Given the description of an element on the screen output the (x, y) to click on. 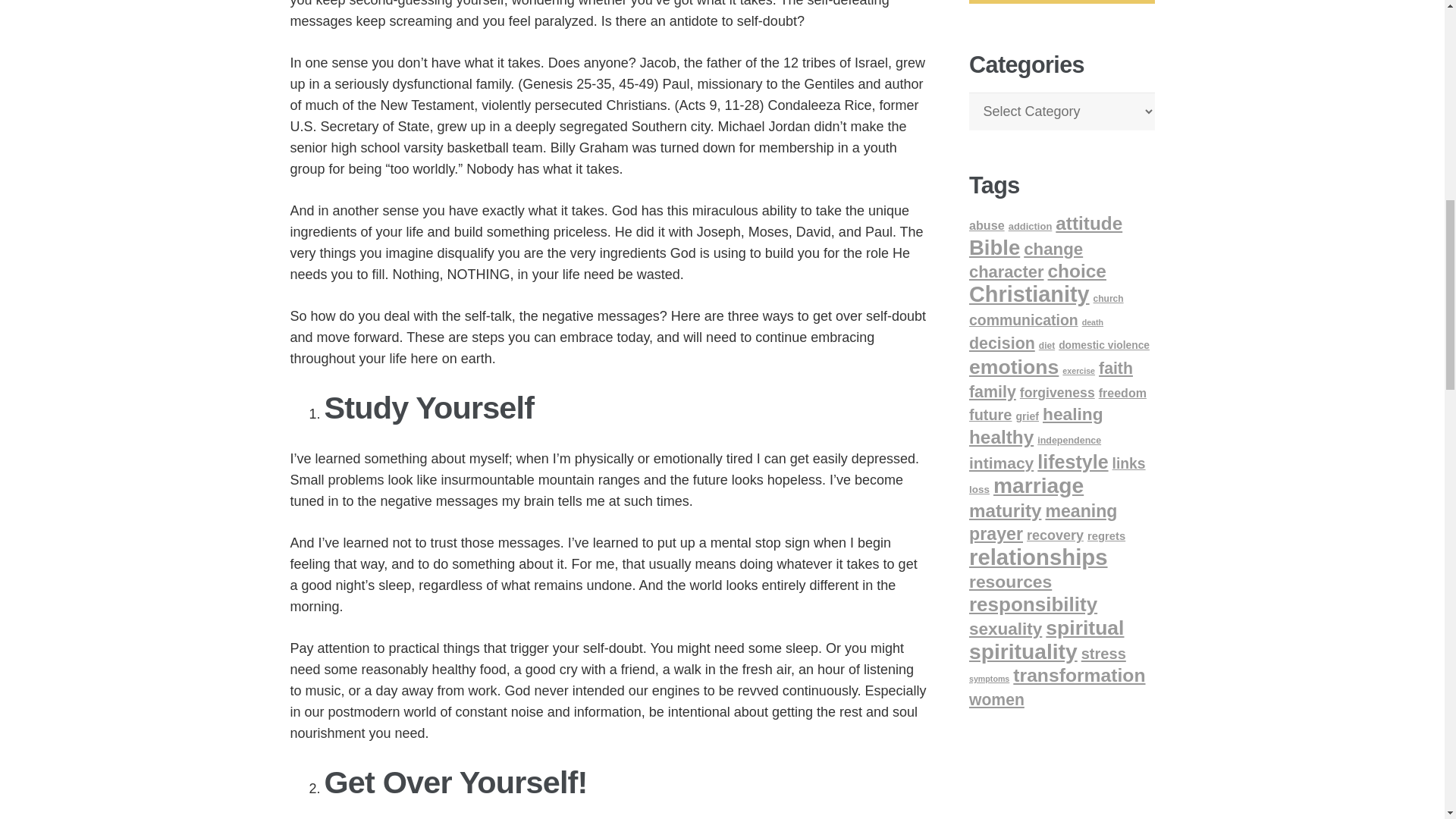
communication (1023, 320)
character (1006, 271)
Bible (994, 247)
church (1108, 298)
Back to top (1413, 26)
attitude (1088, 222)
change (1053, 248)
addiction (1030, 225)
Christianity (1029, 293)
choice (1077, 271)
abuse (986, 224)
death (1092, 321)
